Given the description of an element on the screen output the (x, y) to click on. 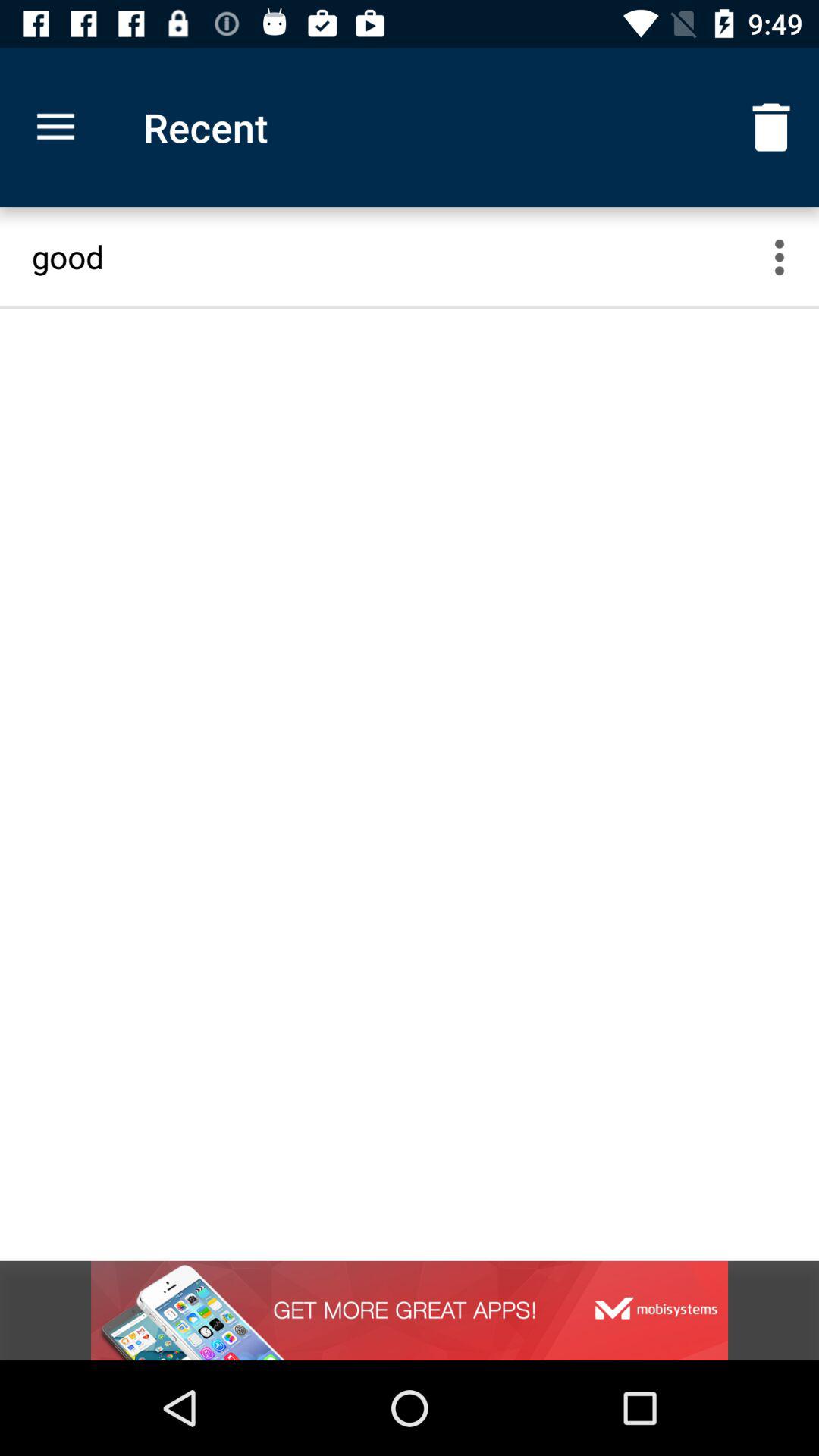
choose the icon at the top (395, 256)
